Given the description of an element on the screen output the (x, y) to click on. 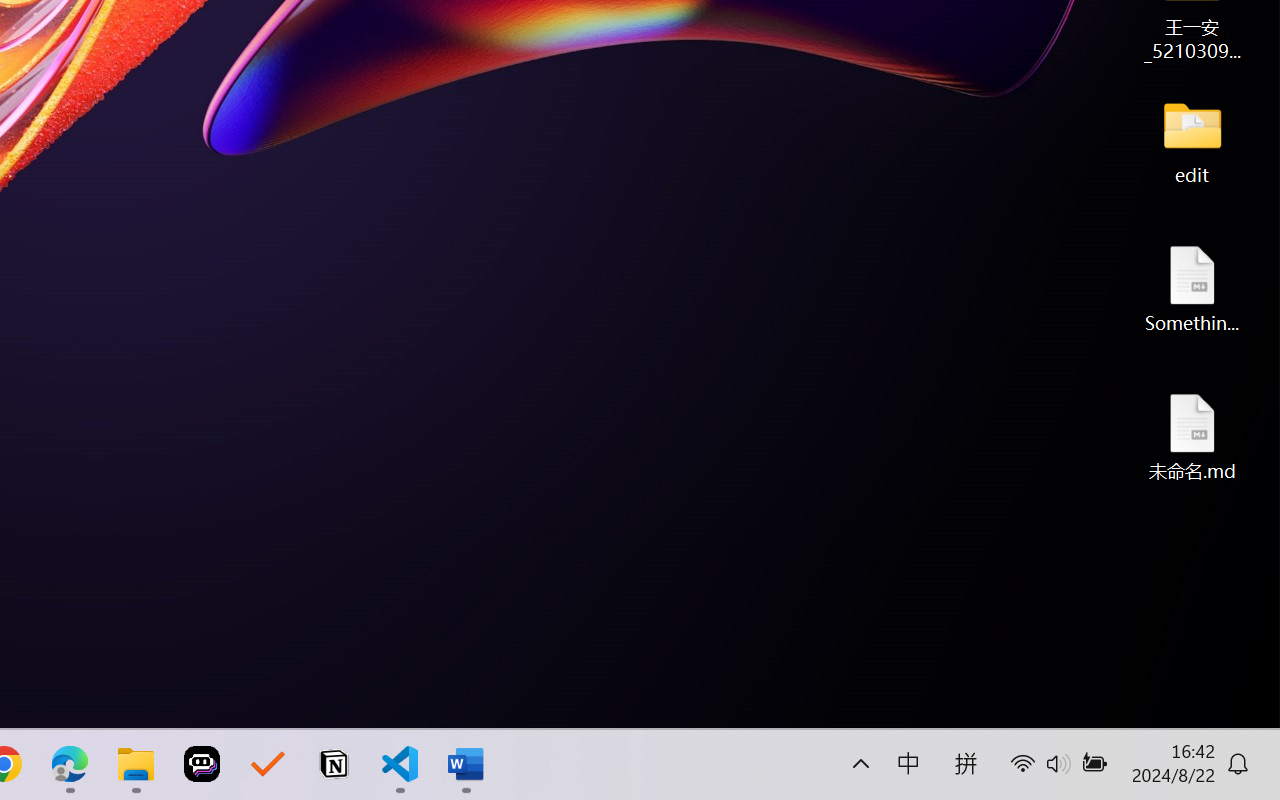
edit (1192, 140)
